Given the description of an element on the screen output the (x, y) to click on. 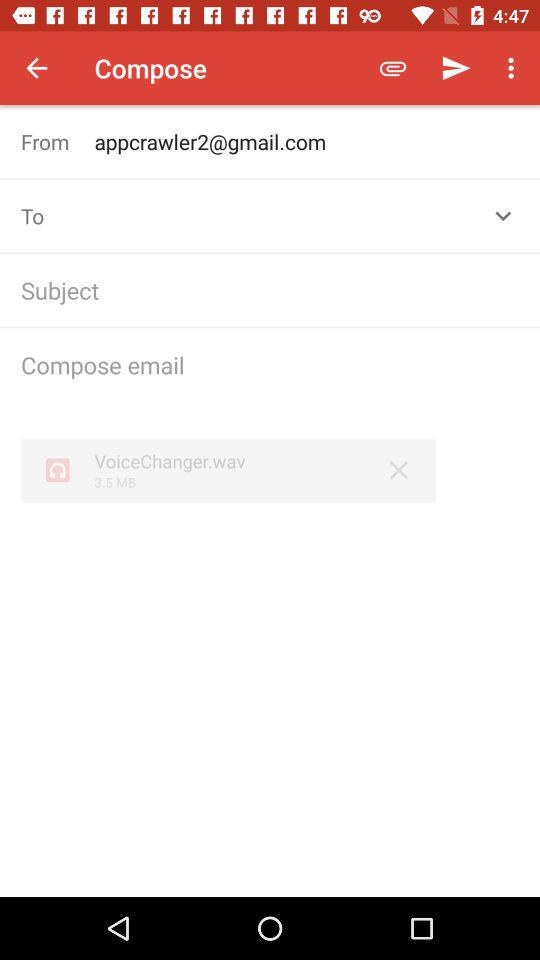
turn off the item to the left of appcrawler2@gmail.com icon (57, 141)
